Given the description of an element on the screen output the (x, y) to click on. 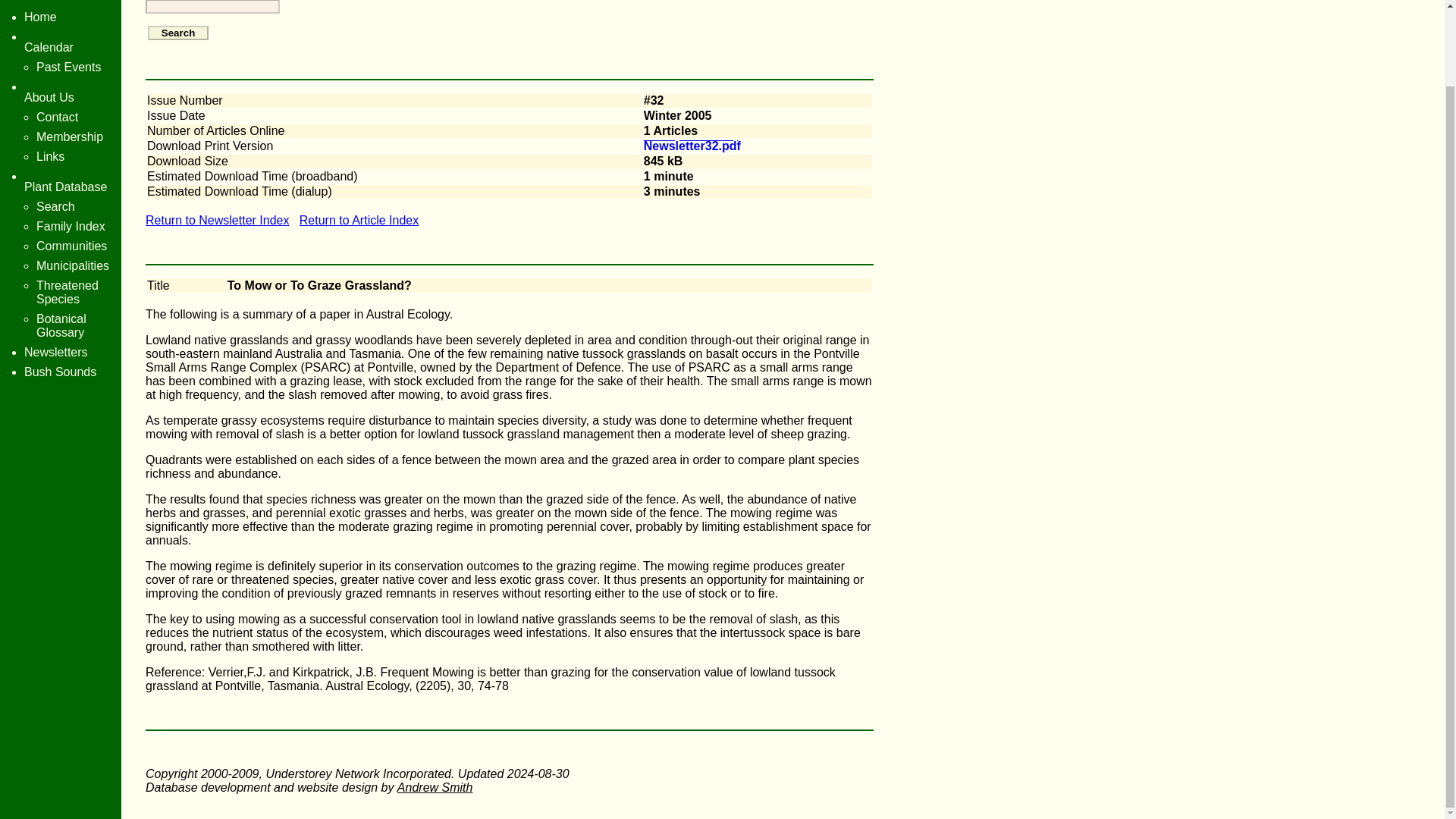
Bush Sounds (60, 371)
Contact (57, 116)
Newsletters (55, 351)
Past Events (68, 66)
Communities (71, 245)
About Us (49, 97)
Home (40, 16)
Return to Article Index (359, 219)
Municipalities (72, 265)
Family Index (70, 226)
